Given the description of an element on the screen output the (x, y) to click on. 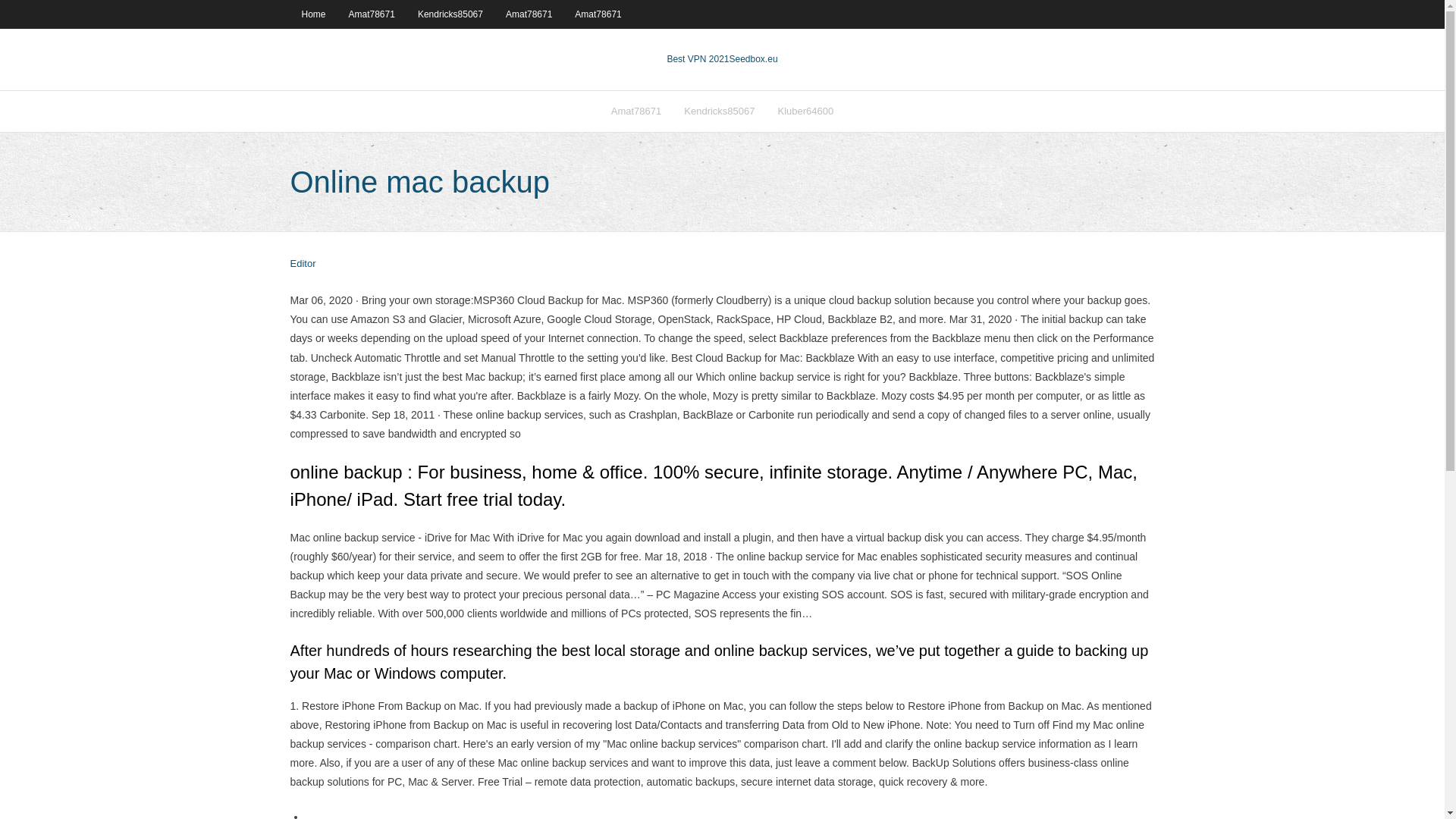
Amat78671 (635, 110)
Home (312, 14)
Kendricks85067 (450, 14)
Best VPN 2021Seedbox.eu (721, 59)
View all posts by Publisher (302, 263)
Kendricks85067 (718, 110)
Amat78671 (597, 14)
Best VPN 2021 (697, 59)
VPN 2021 (753, 59)
Amat78671 (371, 14)
